Given the description of an element on the screen output the (x, y) to click on. 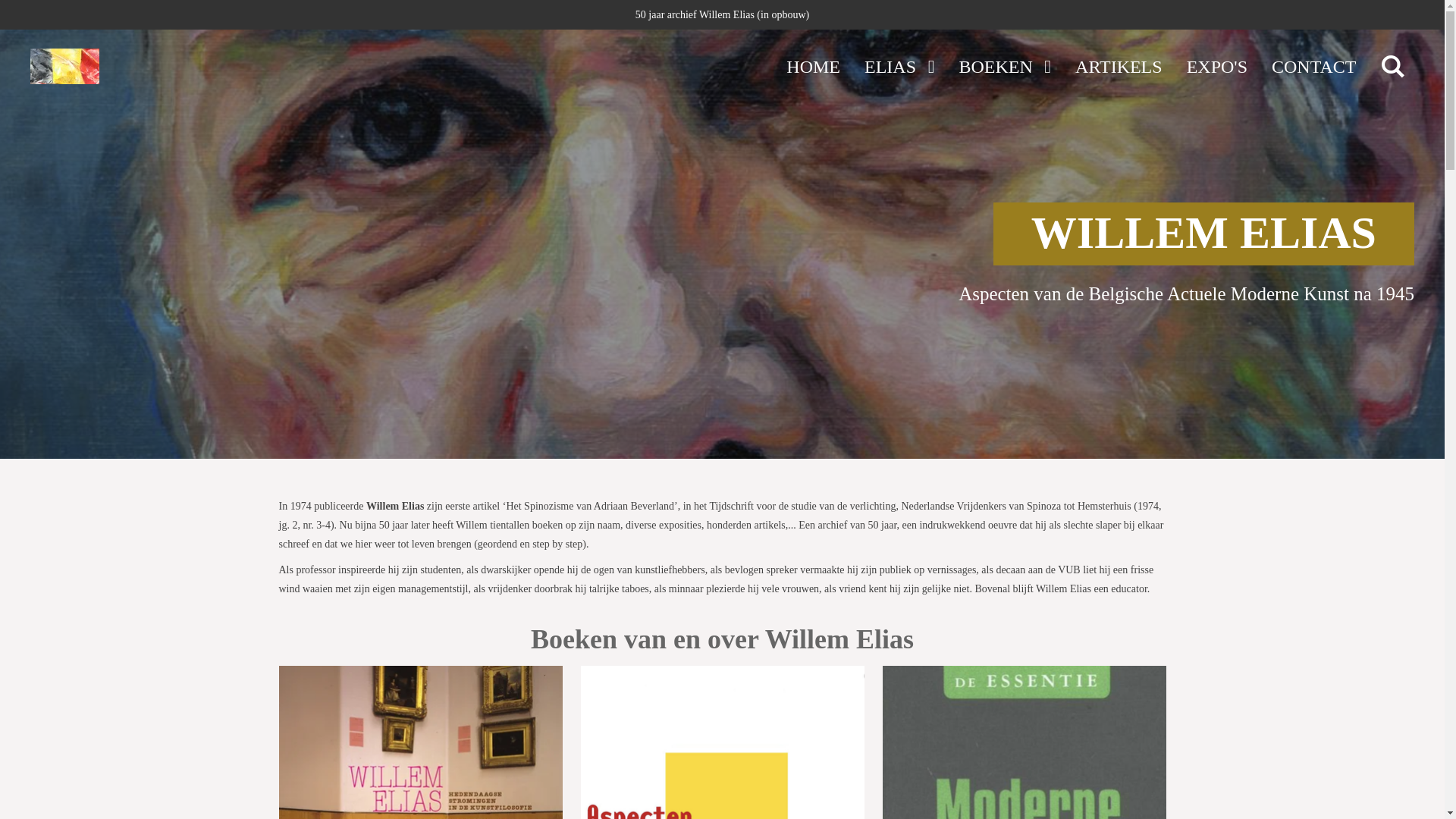
EXPO'S Element type: text (1216, 66)
BOEKEN Element type: text (1004, 66)
ARTIKELS Element type: text (1118, 66)
Zoeken Element type: hover (1392, 66)
Willem Elias Element type: hover (64, 66)
ELIAS Element type: text (899, 66)
CONTACT Element type: text (1313, 66)
HOME Element type: text (813, 66)
